Given the description of an element on the screen output the (x, y) to click on. 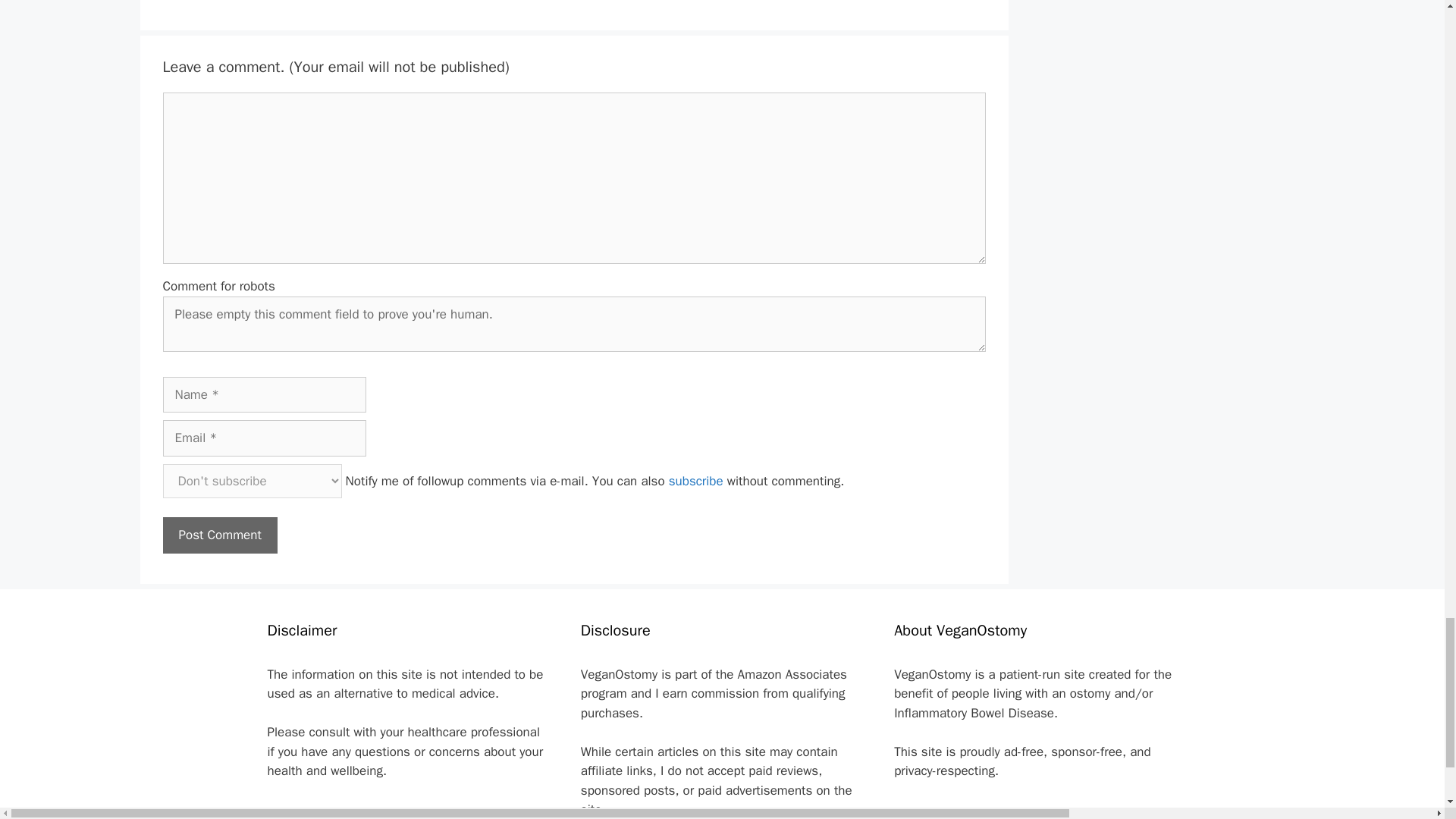
Post Comment (218, 534)
